Given the description of an element on the screen output the (x, y) to click on. 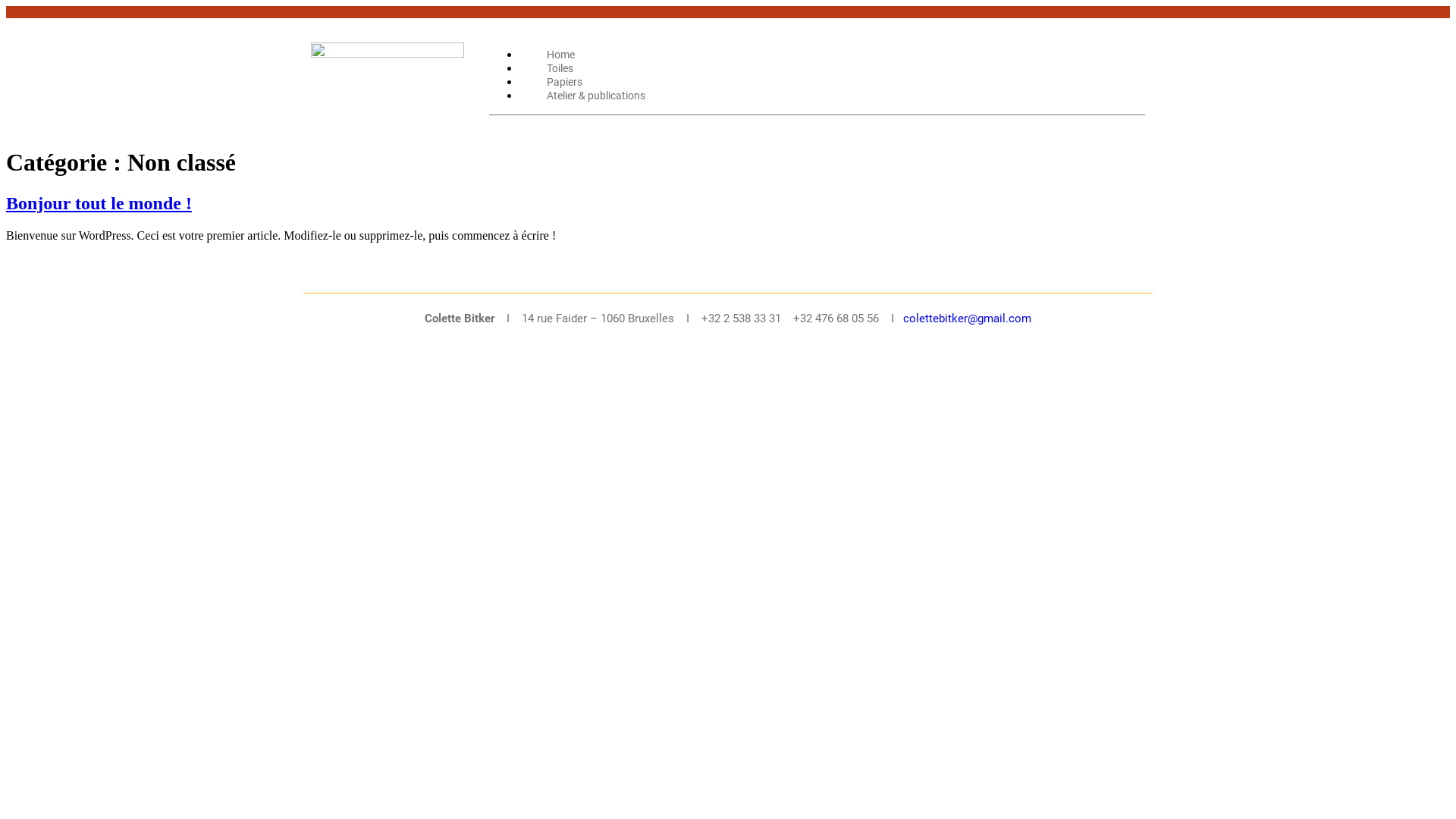
Toiles Element type: text (559, 67)
Bonjour tout le monde ! Element type: text (98, 203)
Atelier & publications Element type: text (595, 95)
Papiers Element type: text (564, 81)
colettebitker@gmail.com Element type: text (967, 318)
Home Element type: text (560, 54)
